Given the description of an element on the screen output the (x, y) to click on. 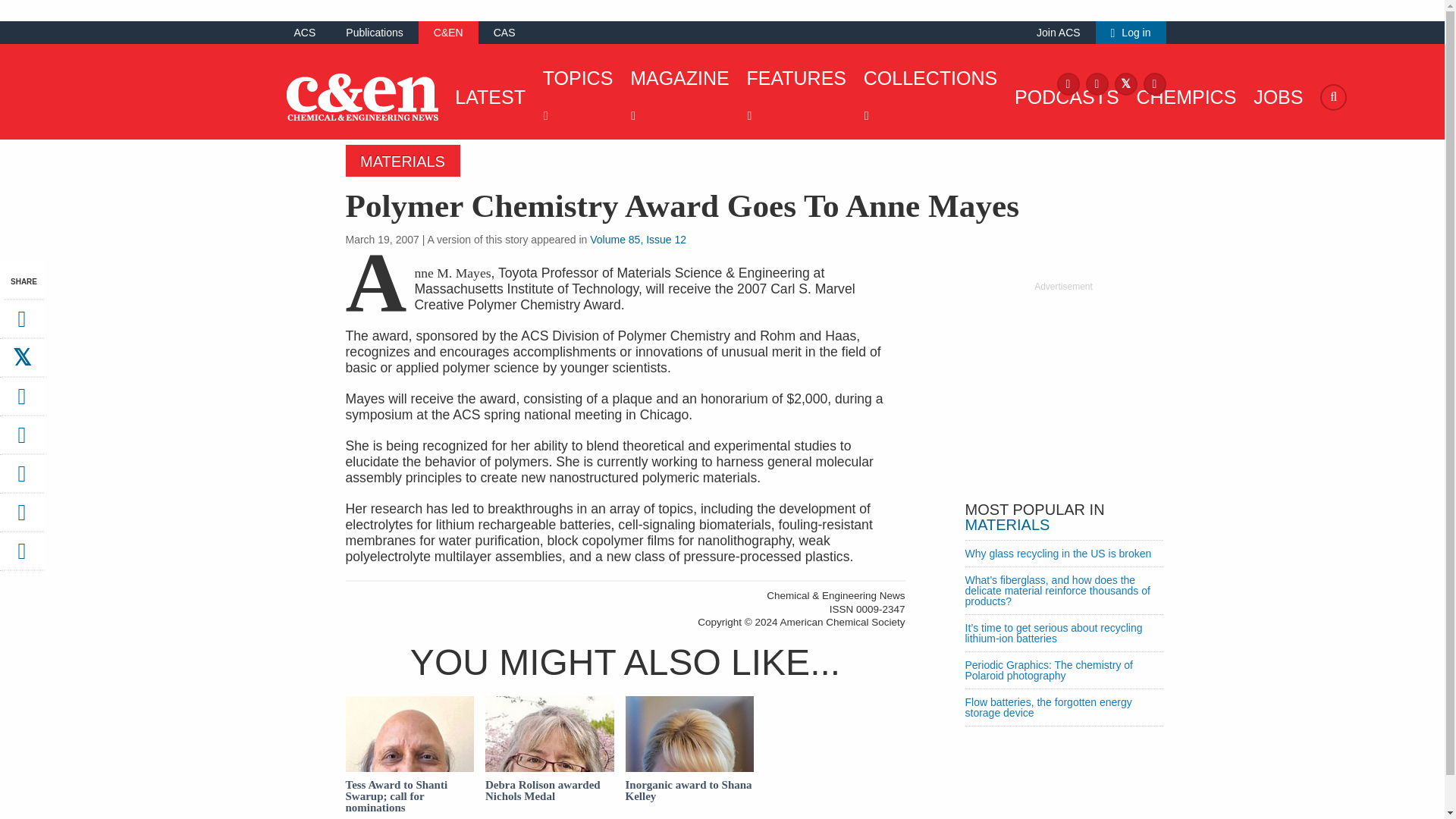
X (1126, 82)
Facebook (1068, 82)
Log in (1130, 32)
TOPICS (573, 96)
Instagram (1097, 82)
LinkedIn (1154, 82)
ACS (304, 32)
WeChat (21, 479)
Join ACS (1058, 32)
